Given the description of an element on the screen output the (x, y) to click on. 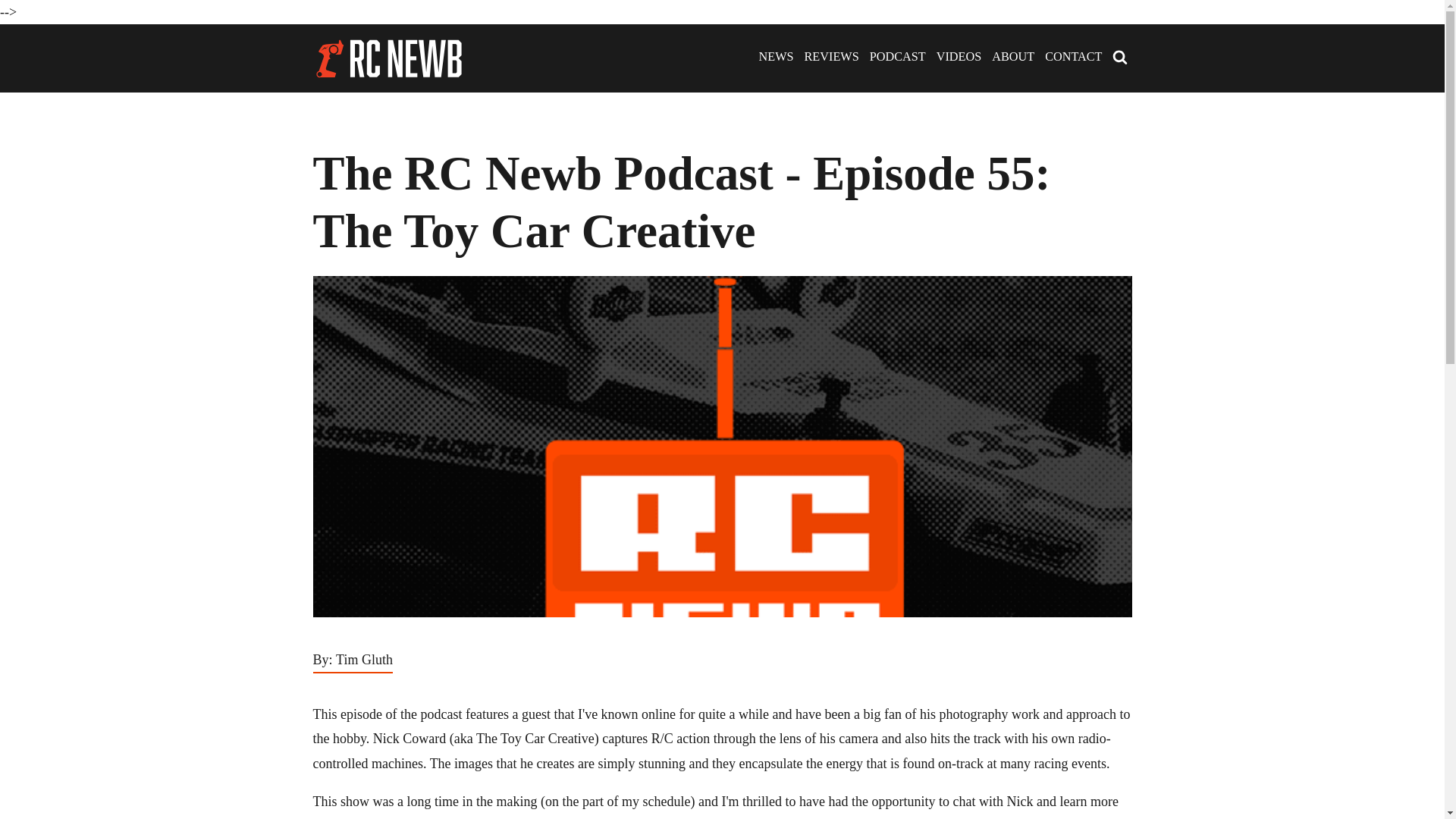
VIDEOS (958, 57)
REVIEWS (832, 57)
ABOUT (1012, 57)
NEWS (775, 57)
CONTACT (1073, 57)
PODCAST (897, 57)
Search (34, 10)
